Given the description of an element on the screen output the (x, y) to click on. 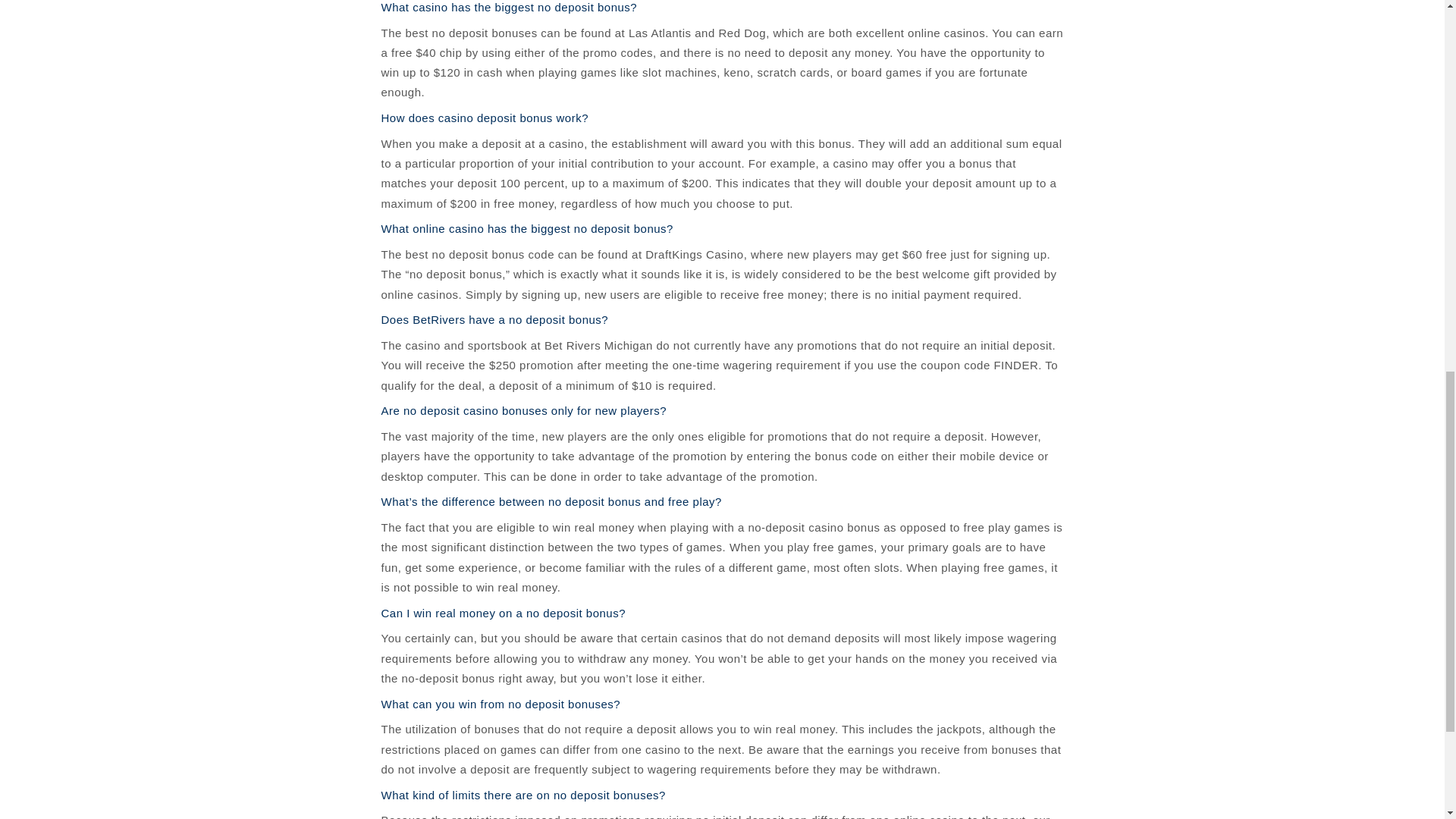
What can you win from no deposit bonuses? (500, 703)
What online casino has the biggest no deposit bonus? (526, 228)
What casino has the biggest no deposit bonus? (508, 6)
What kind of limits there are on no deposit bonuses? (522, 794)
How does casino deposit bonus work? (484, 117)
Can I win real money on a no deposit bonus? (503, 612)
Are no deposit casino bonuses only for new players? (523, 410)
Does BetRivers have a no deposit bonus? (494, 318)
